Given the description of an element on the screen output the (x, y) to click on. 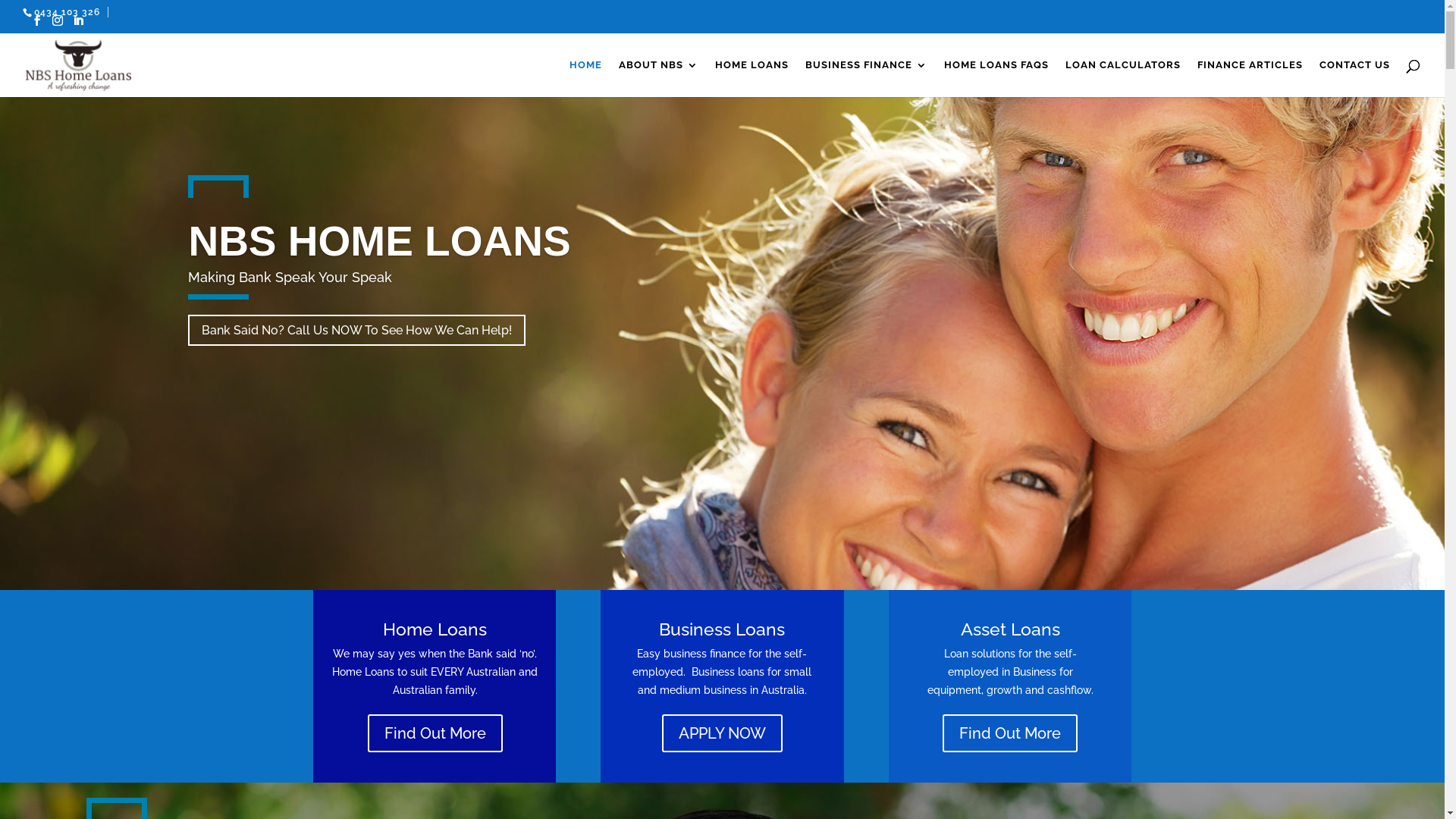
FINANCE ARTICLES Element type: text (1249, 78)
APPLY NOW Element type: text (722, 733)
HOME Element type: text (585, 78)
Find Out More Element type: text (1009, 733)
Bank Said No? Call Us NOW To See How We Can Help! Element type: text (356, 329)
CONTACT US Element type: text (1354, 78)
HOME LOANS FAQS Element type: text (996, 78)
HOME LOANS Element type: text (751, 78)
BUSINESS FINANCE Element type: text (866, 78)
LOAN CALCULATORS Element type: text (1122, 78)
Find Out More Element type: text (434, 733)
ABOUT NBS Element type: text (658, 78)
